Given the description of an element on the screen output the (x, y) to click on. 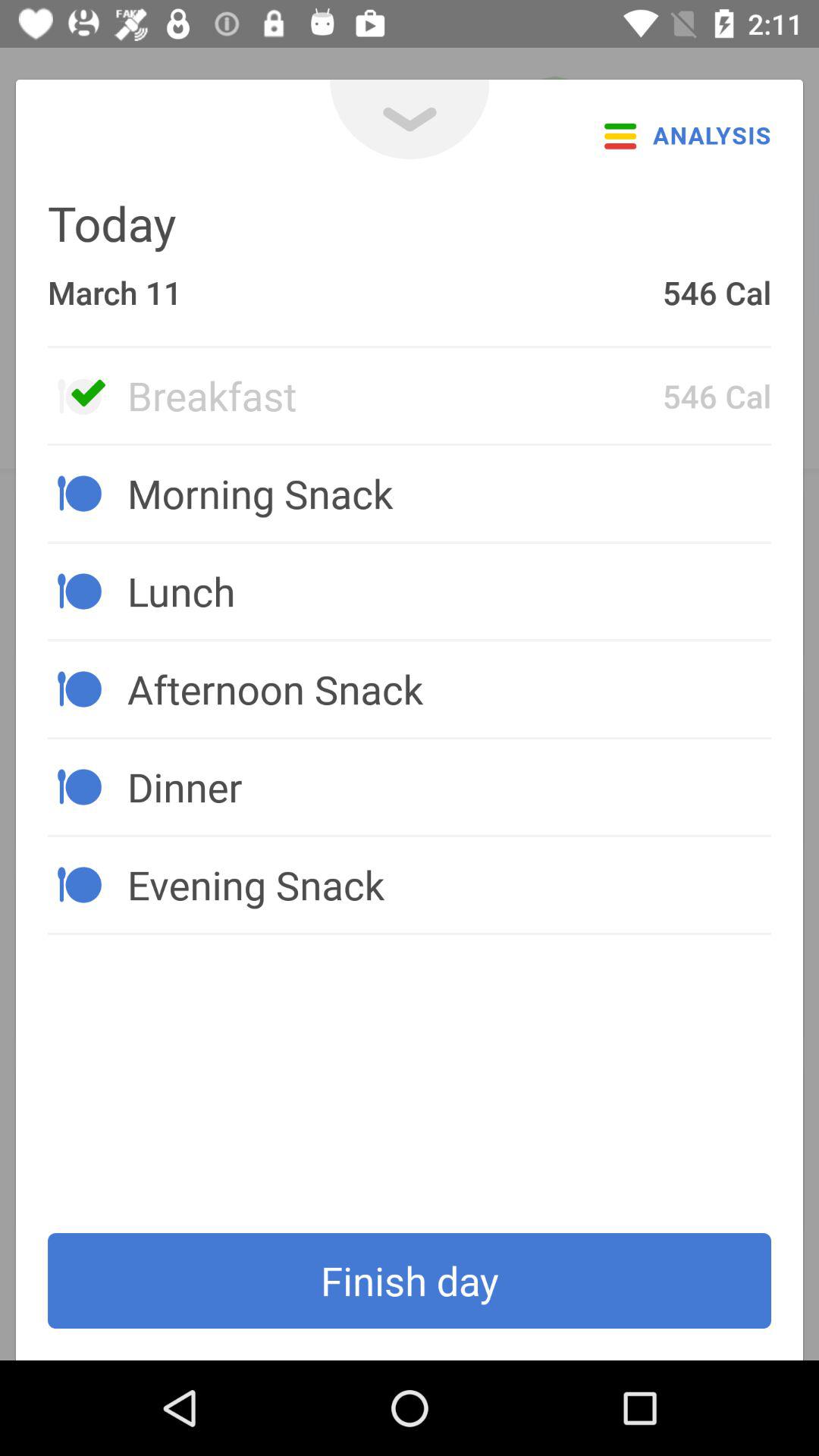
open the icon above lunch icon (449, 492)
